Given the description of an element on the screen output the (x, y) to click on. 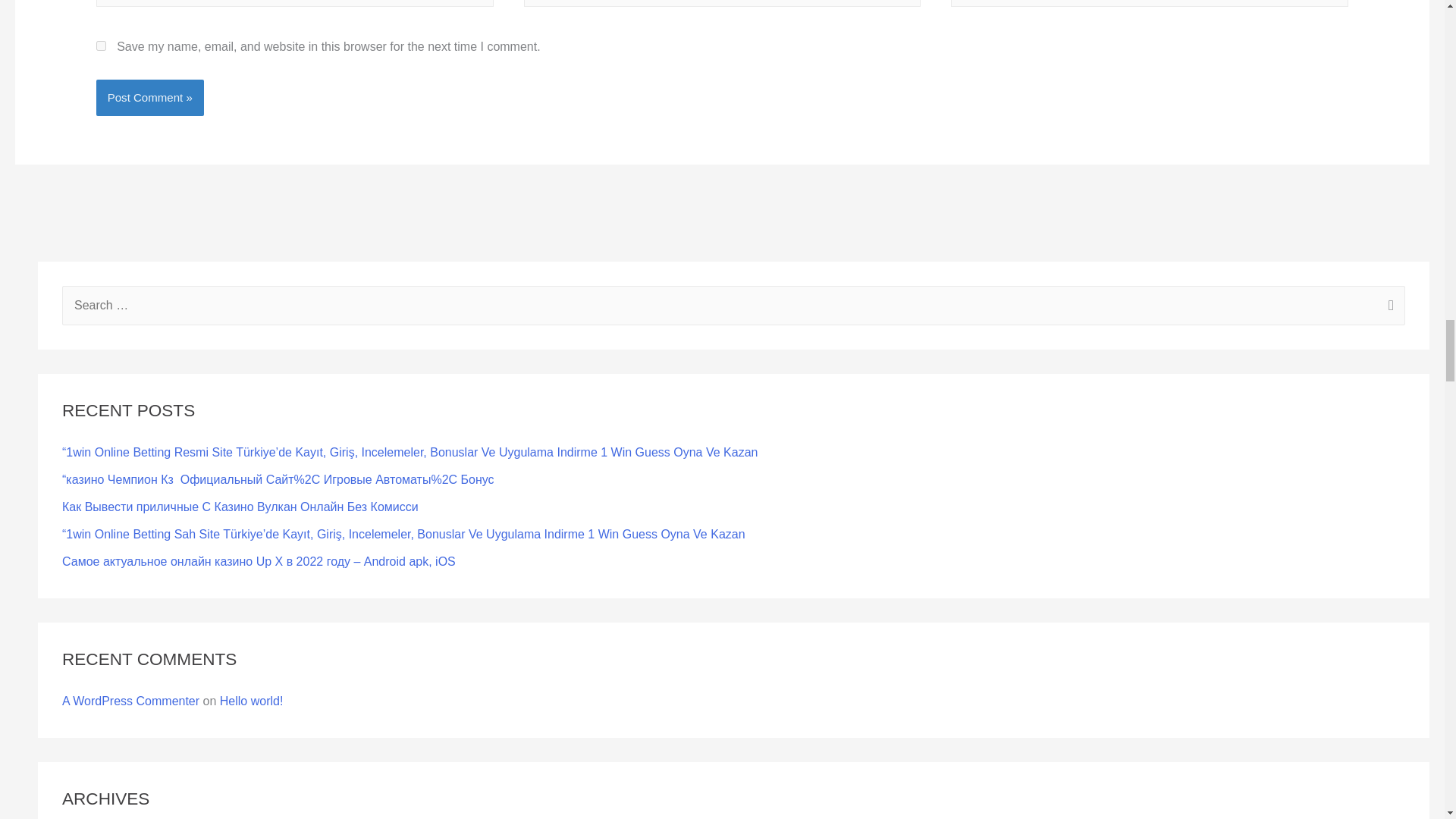
yes (101, 45)
A WordPress Commenter (130, 700)
Hello world! (251, 700)
